Given the description of an element on the screen output the (x, y) to click on. 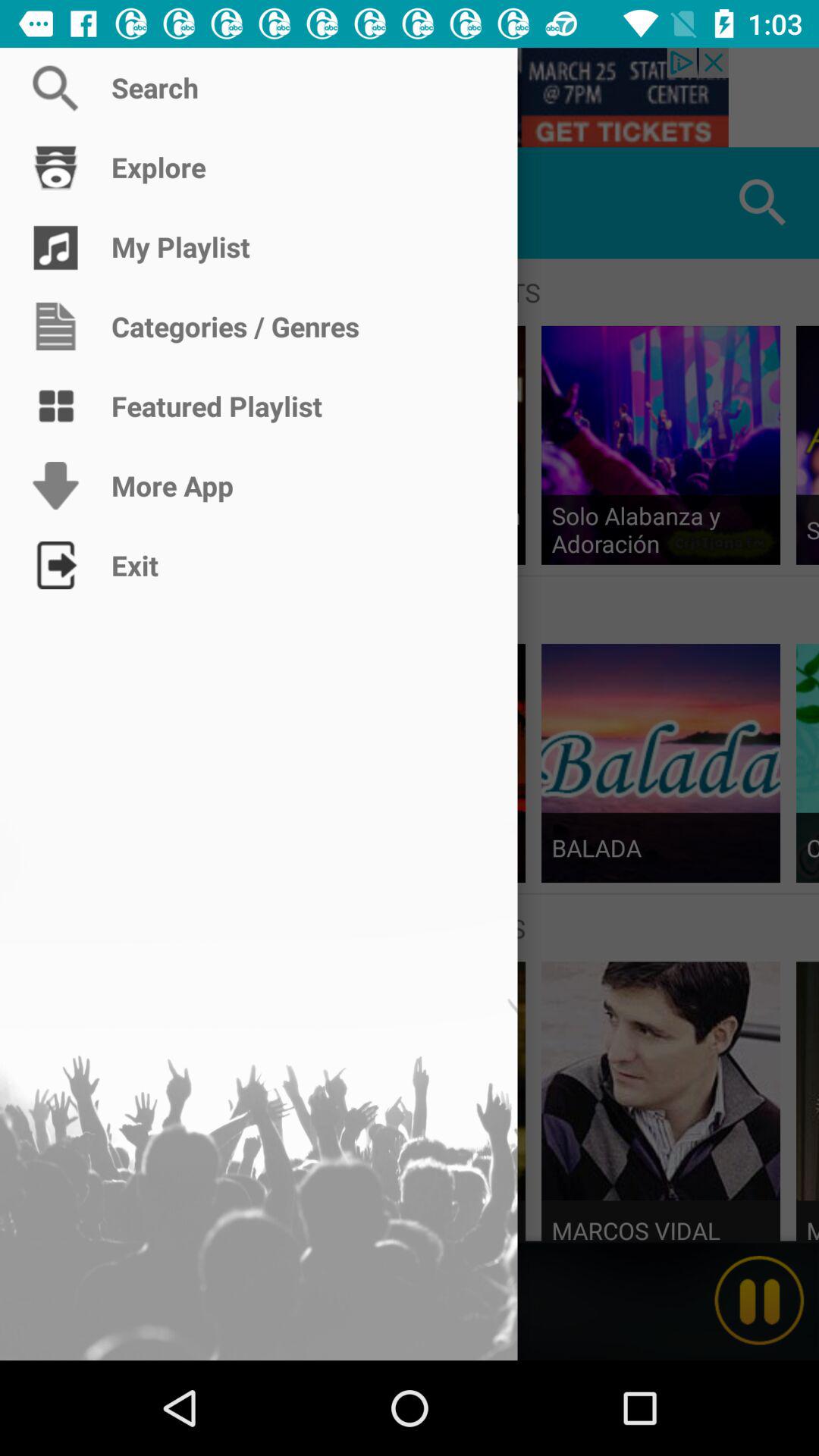
search option (409, 97)
